Given the description of an element on the screen output the (x, y) to click on. 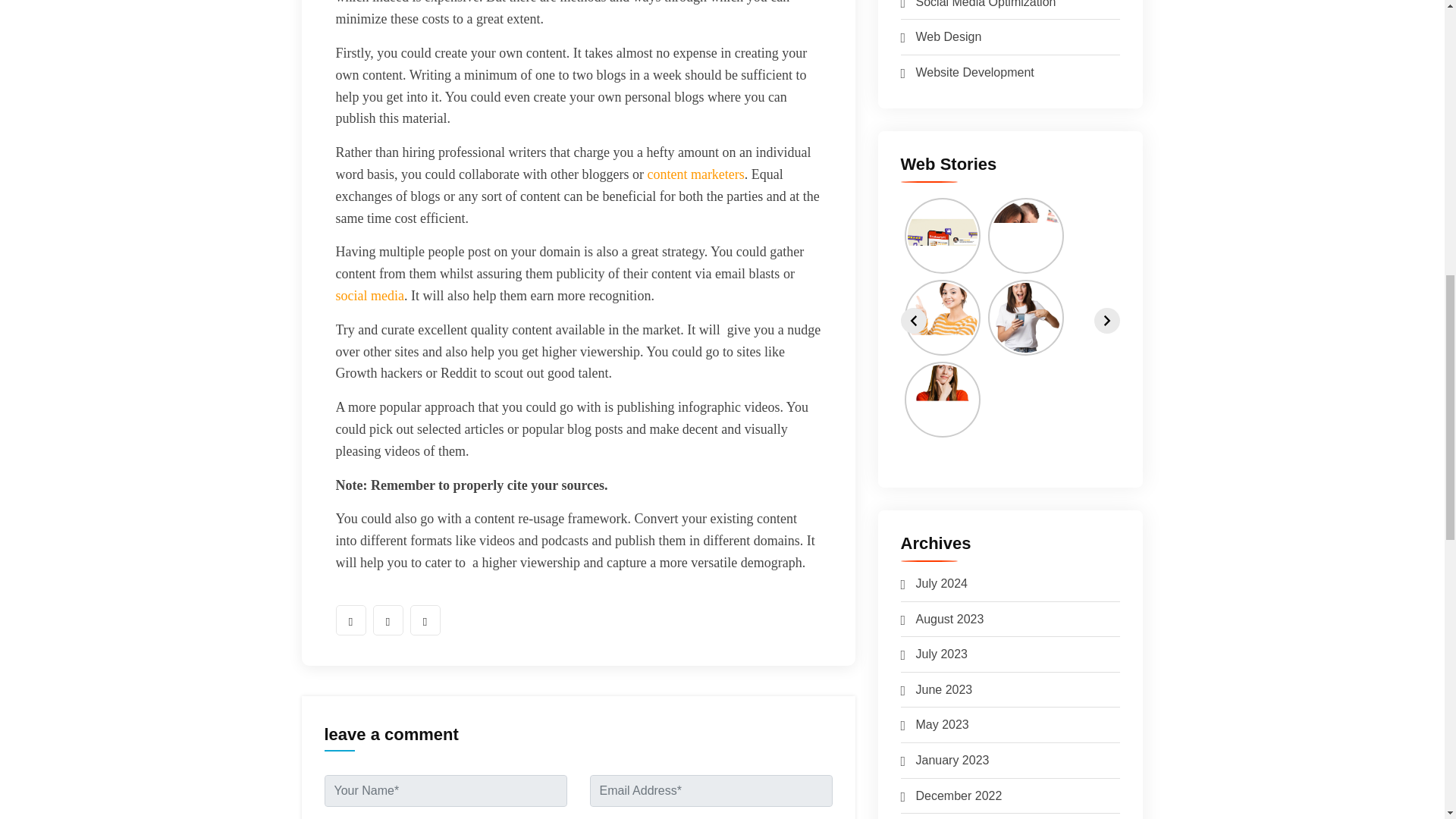
Facebook (349, 620)
content marketers (695, 174)
social media (368, 295)
Instagram (387, 620)
Linkedin (424, 620)
